Given the description of an element on the screen output the (x, y) to click on. 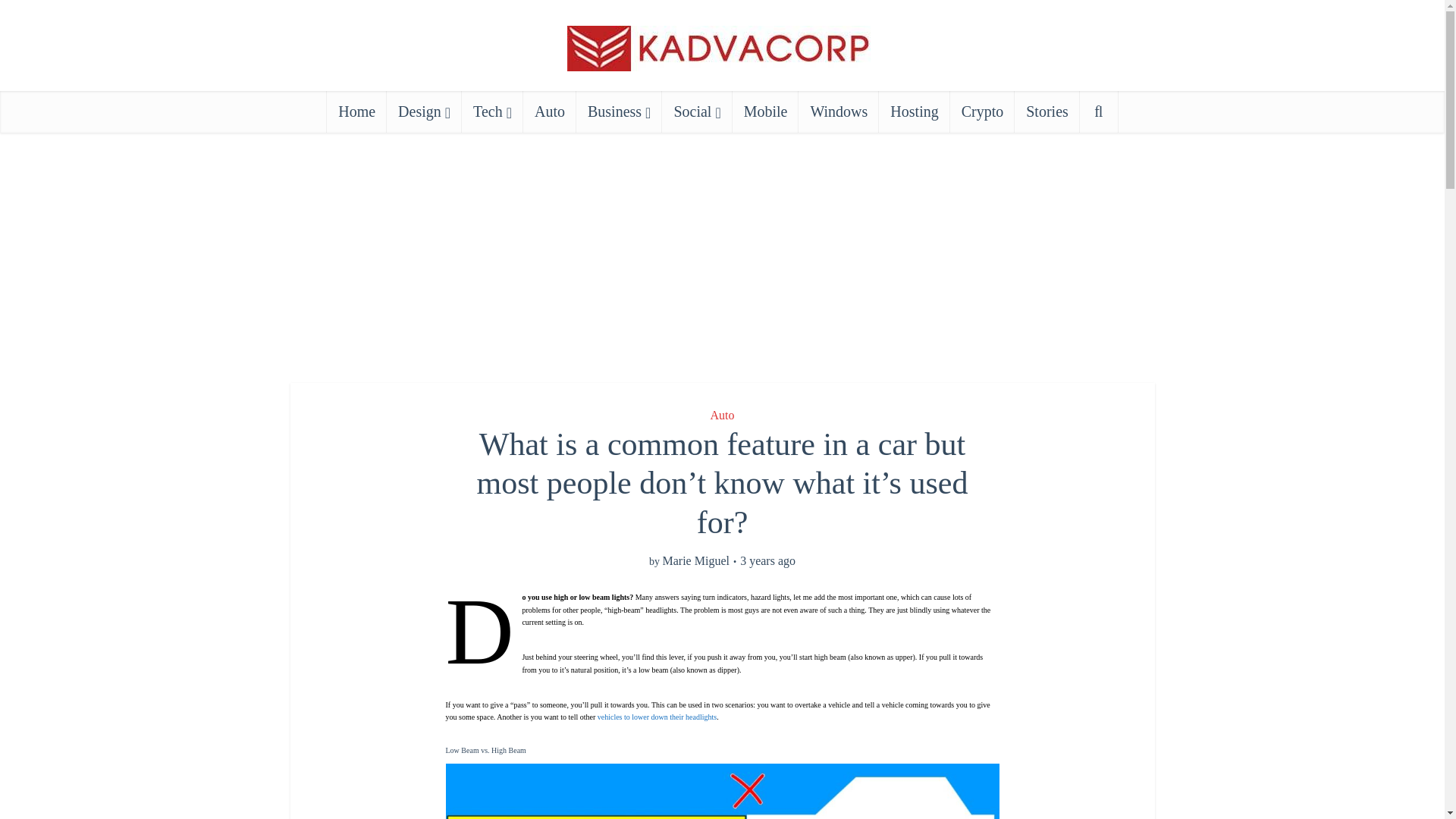
Windows (838, 111)
Mobile (765, 111)
Social (697, 111)
Auto (721, 414)
vehicles to lower down their headlights (656, 716)
Design (424, 111)
Marie Miguel (695, 561)
Hosting (914, 111)
Home (356, 111)
Crypto (982, 111)
Tech (491, 111)
Business (619, 111)
Stories (1047, 111)
Auto (549, 111)
